Given the description of an element on the screen output the (x, y) to click on. 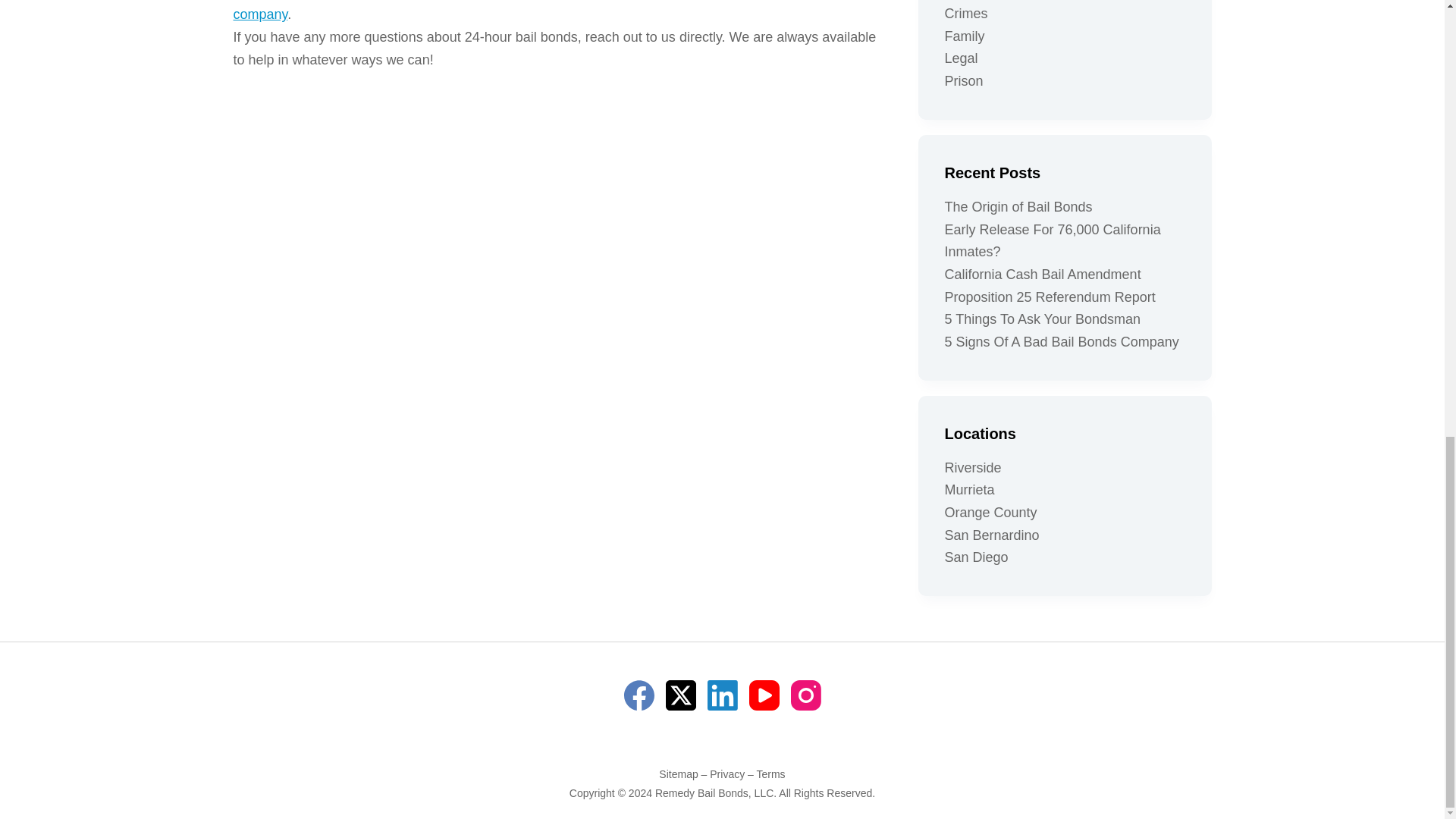
Crimes (966, 13)
Family (964, 36)
Riverside bail bonds company (525, 11)
